Given the description of an element on the screen output the (x, y) to click on. 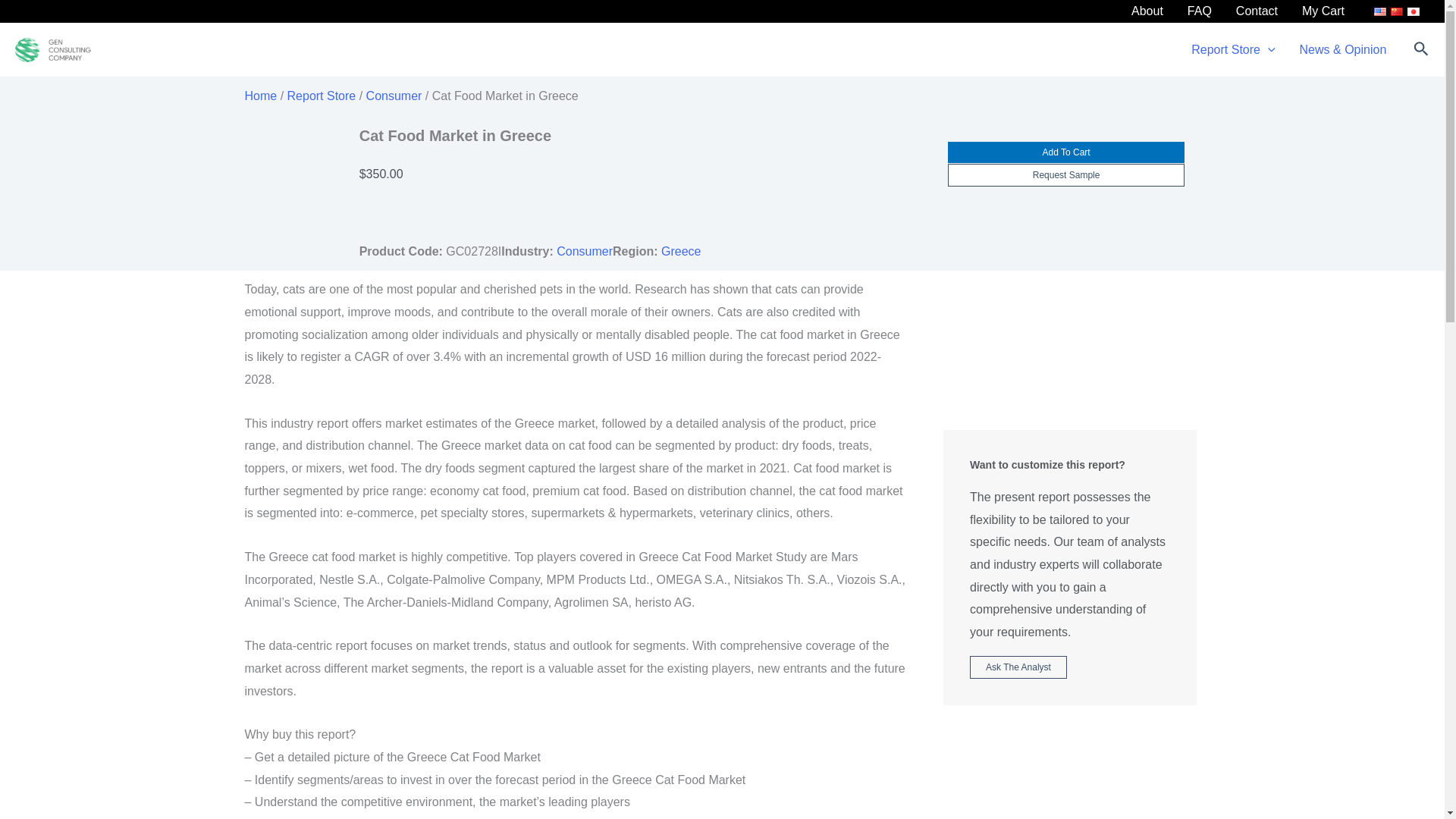
About (1146, 11)
Consumer (394, 95)
FAQ (1199, 11)
Add To Cart (1066, 151)
Greece (680, 250)
English (1380, 10)
Home (260, 95)
Contact (1257, 11)
My Cart (1323, 11)
Report Store (321, 95)
